Given the description of an element on the screen output the (x, y) to click on. 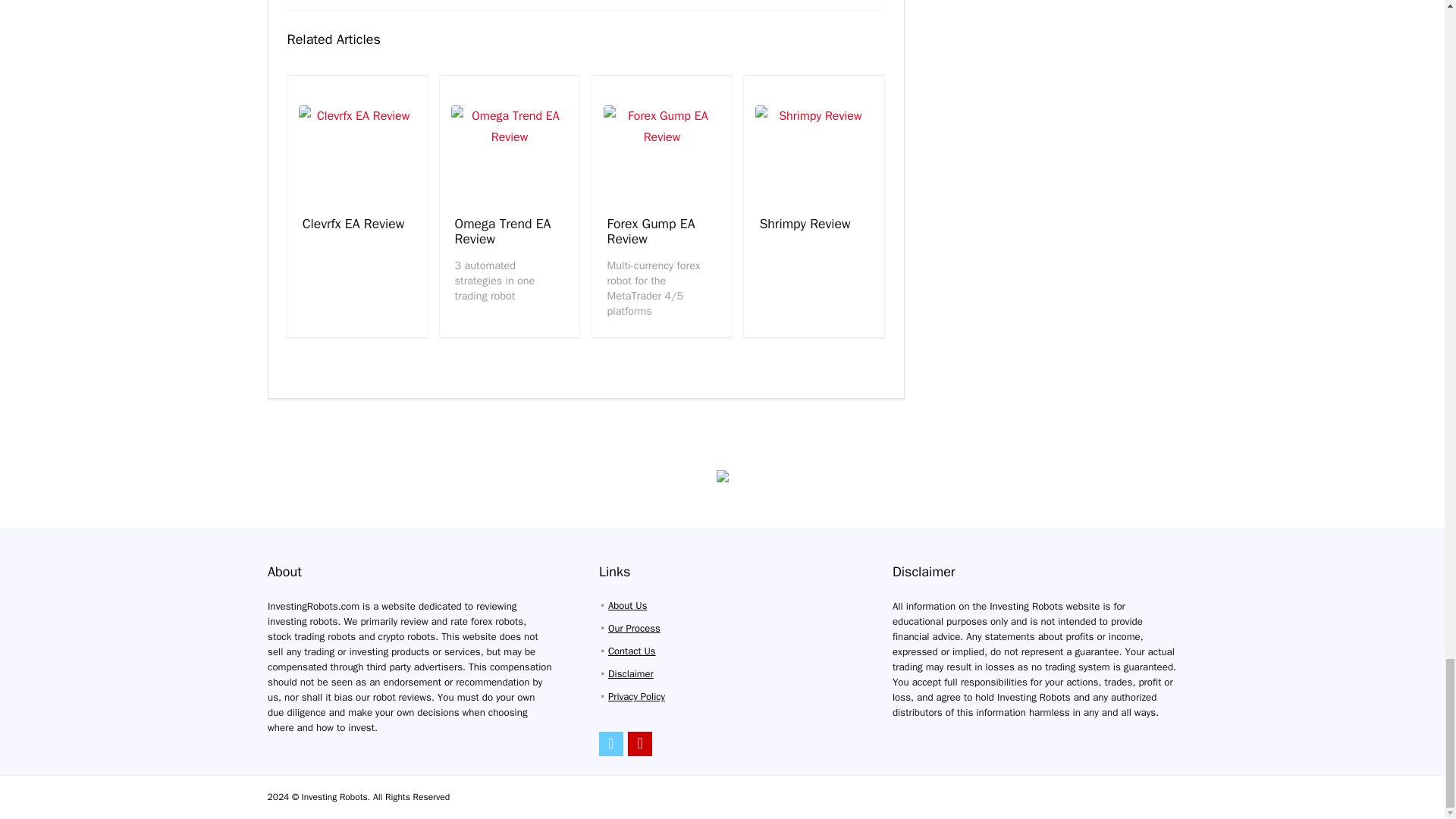
Clevrfx EA Review (353, 223)
Forex Gump EA Review (650, 231)
Omega Trend EA Review (502, 231)
